Given the description of an element on the screen output the (x, y) to click on. 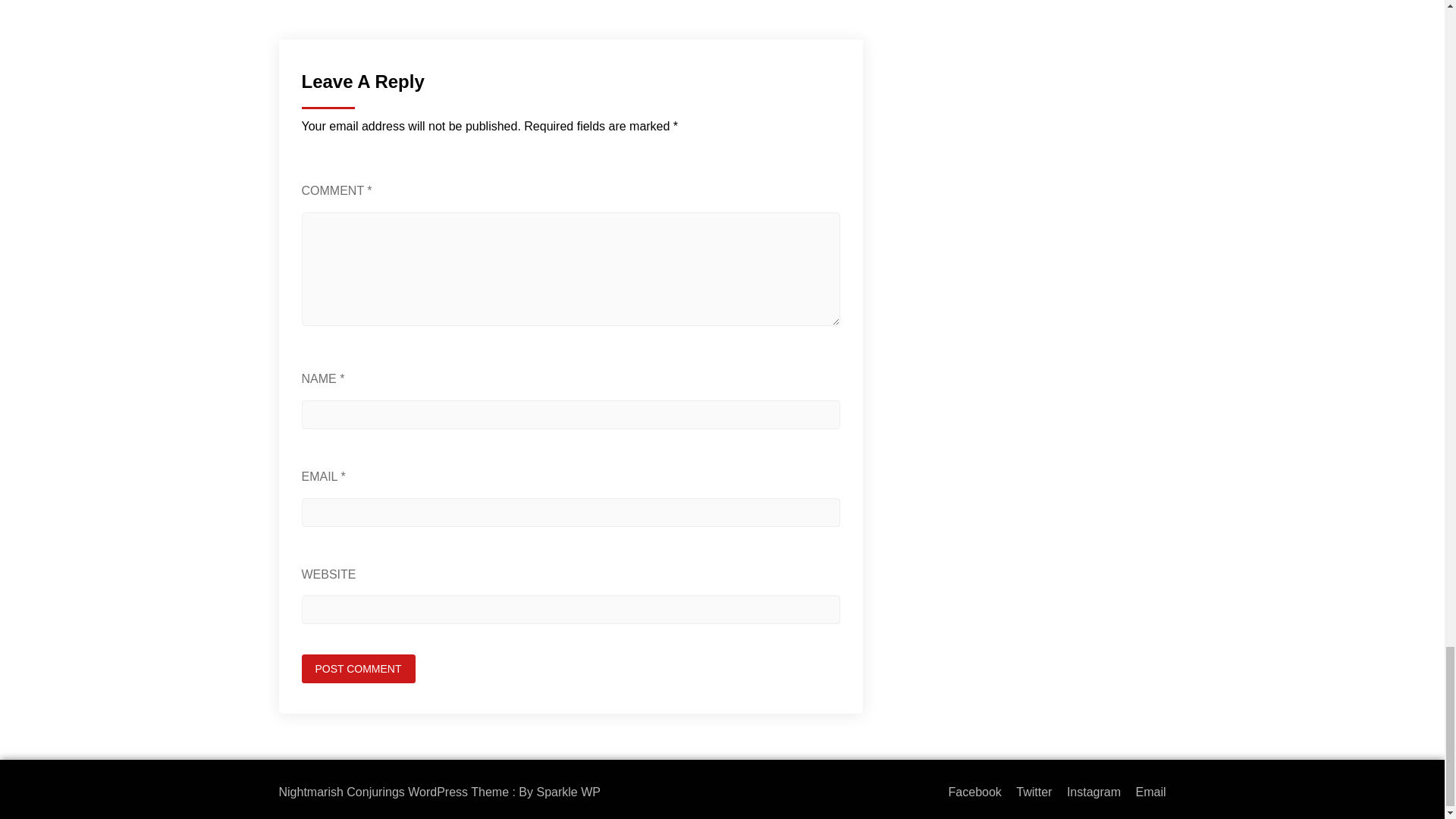
Post Comment (357, 668)
